Given the description of an element on the screen output the (x, y) to click on. 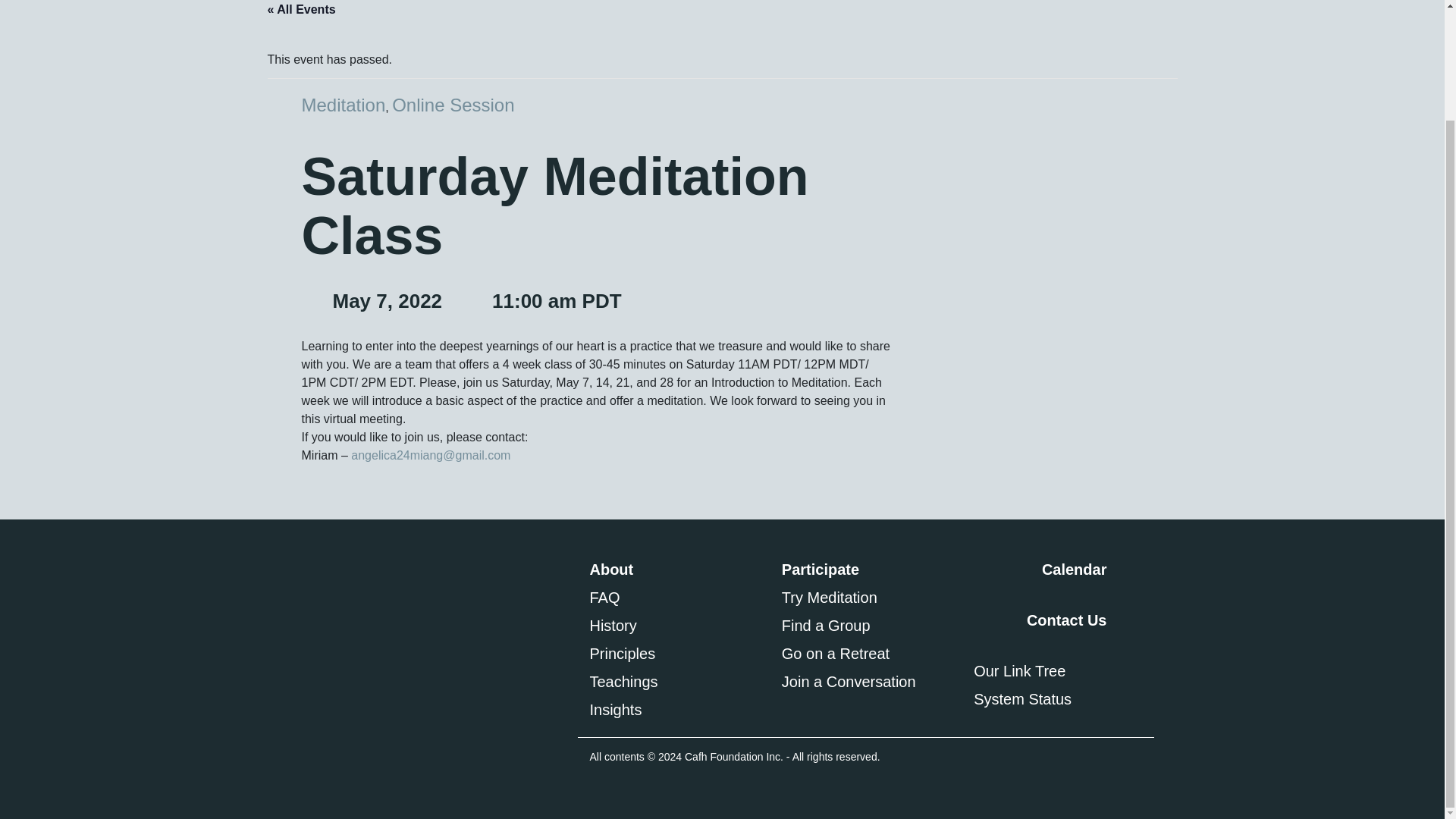
About (673, 569)
Teachings (673, 681)
FAQ (673, 597)
Online Session (452, 105)
Try Meditation (865, 597)
Principles (673, 653)
Go on a Retreat (865, 653)
Insights (673, 709)
Find a Group (865, 625)
History (673, 625)
Meditation (343, 105)
Participate (865, 569)
